Given the description of an element on the screen output the (x, y) to click on. 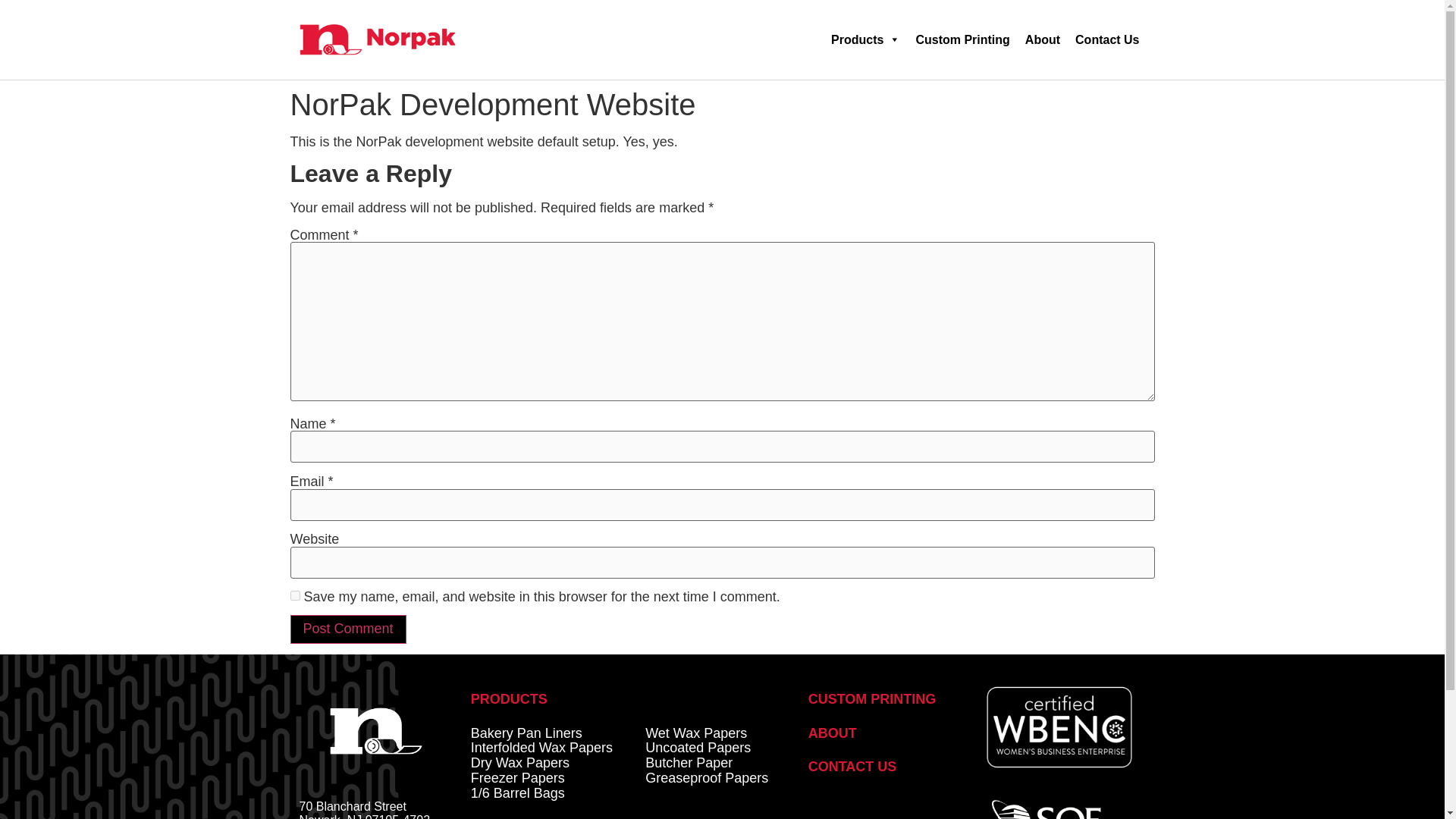
Products (865, 39)
Post Comment (347, 629)
Post Comment (347, 629)
Contact Us (1107, 39)
yes (294, 595)
Custom Printing (961, 39)
Bakery Pan Liners (526, 733)
Interfolded Wax Papers (541, 747)
PRODUCTS (508, 698)
